Given the description of an element on the screen output the (x, y) to click on. 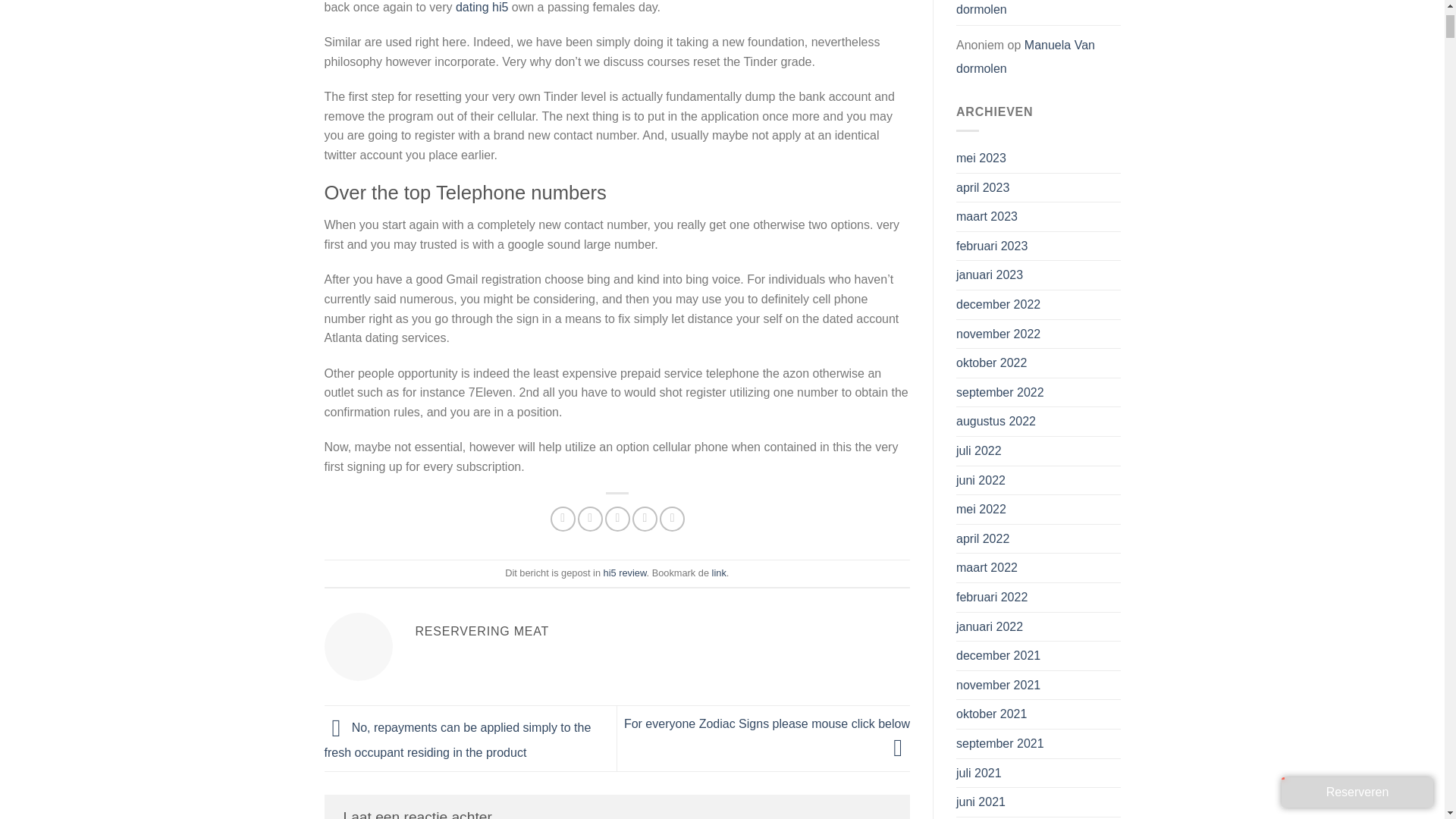
Pin op Pinterest (644, 518)
link (718, 572)
dating hi5 (481, 6)
januari 2023 (989, 275)
Share on LinkedIn (671, 518)
hi5 review (625, 572)
februari 2023 (991, 246)
Manuela Van dormolen (1025, 10)
